Given the description of an element on the screen output the (x, y) to click on. 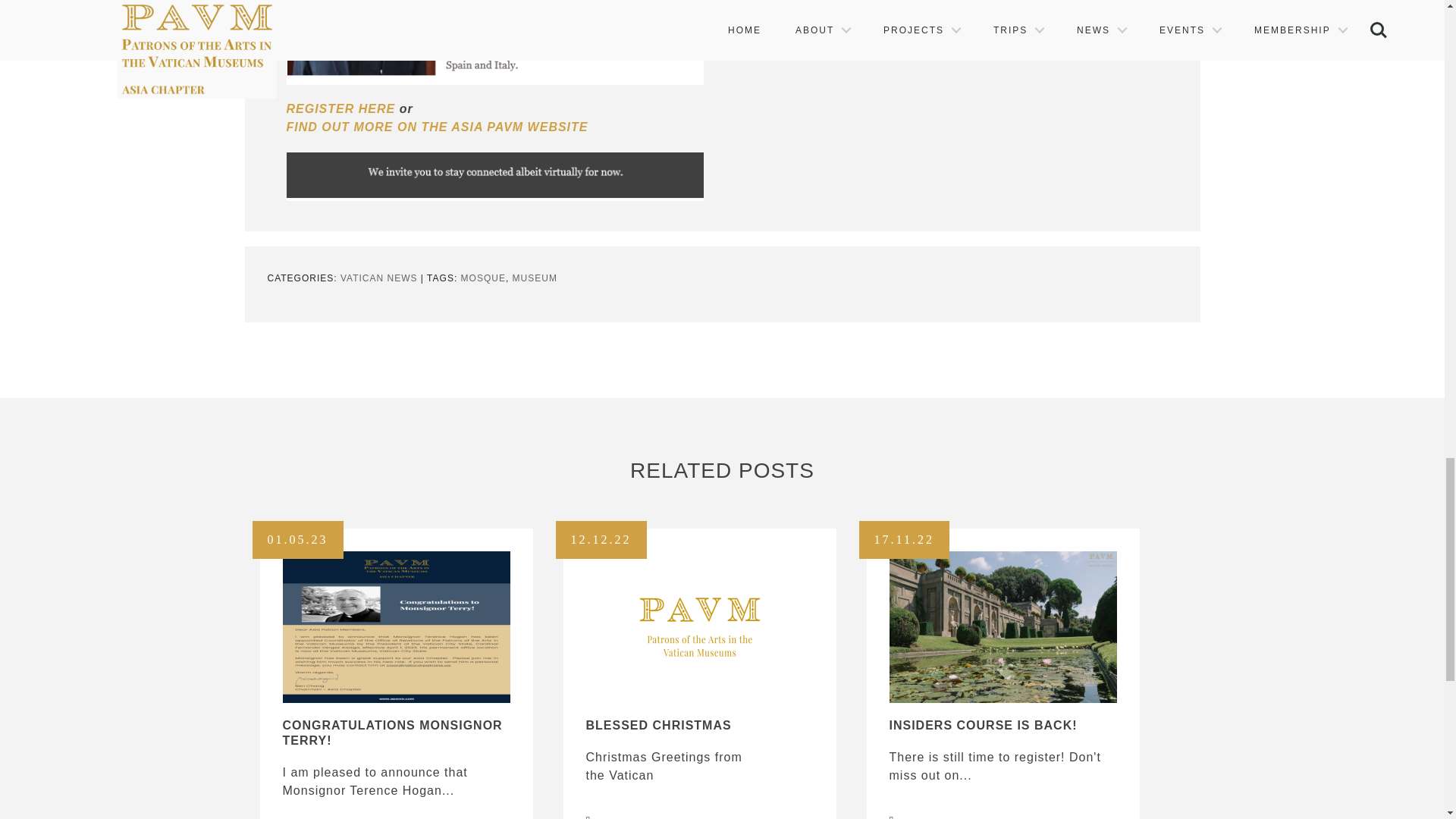
REGISTER HERE (341, 108)
MOSQUE (483, 277)
MUSEUM (534, 277)
FIND OUT MORE ON THE ASIA PAVM WEBSITE (437, 126)
VATICAN NEWS (378, 277)
